Given the description of an element on the screen output the (x, y) to click on. 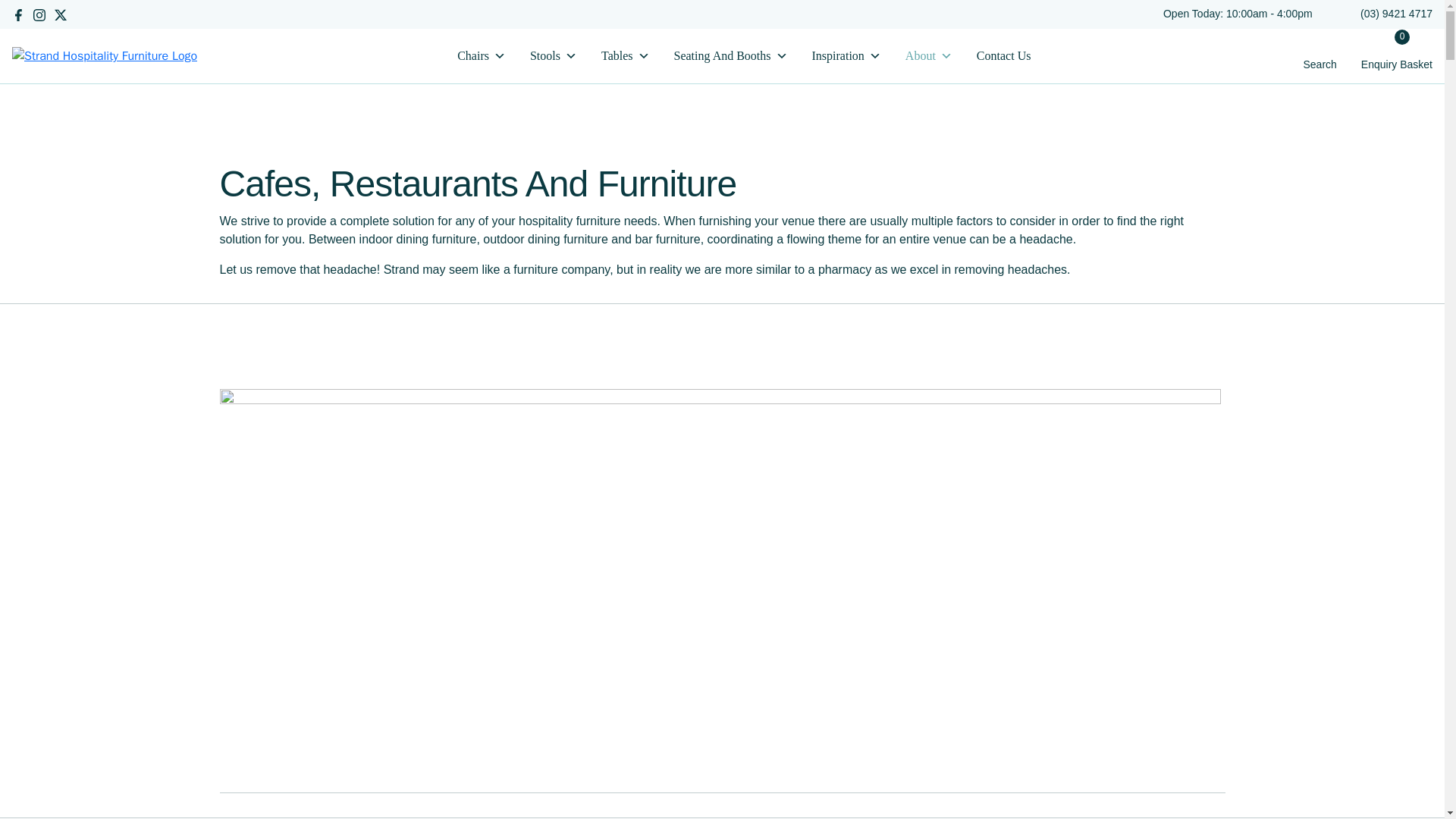
Facebook (19, 14)
Strand Hospitality Furniture (104, 55)
Tables (625, 55)
Chairs (481, 55)
Twitter (62, 14)
Instagram (40, 14)
Stools (552, 55)
Call us today (1395, 13)
